Given the description of an element on the screen output the (x, y) to click on. 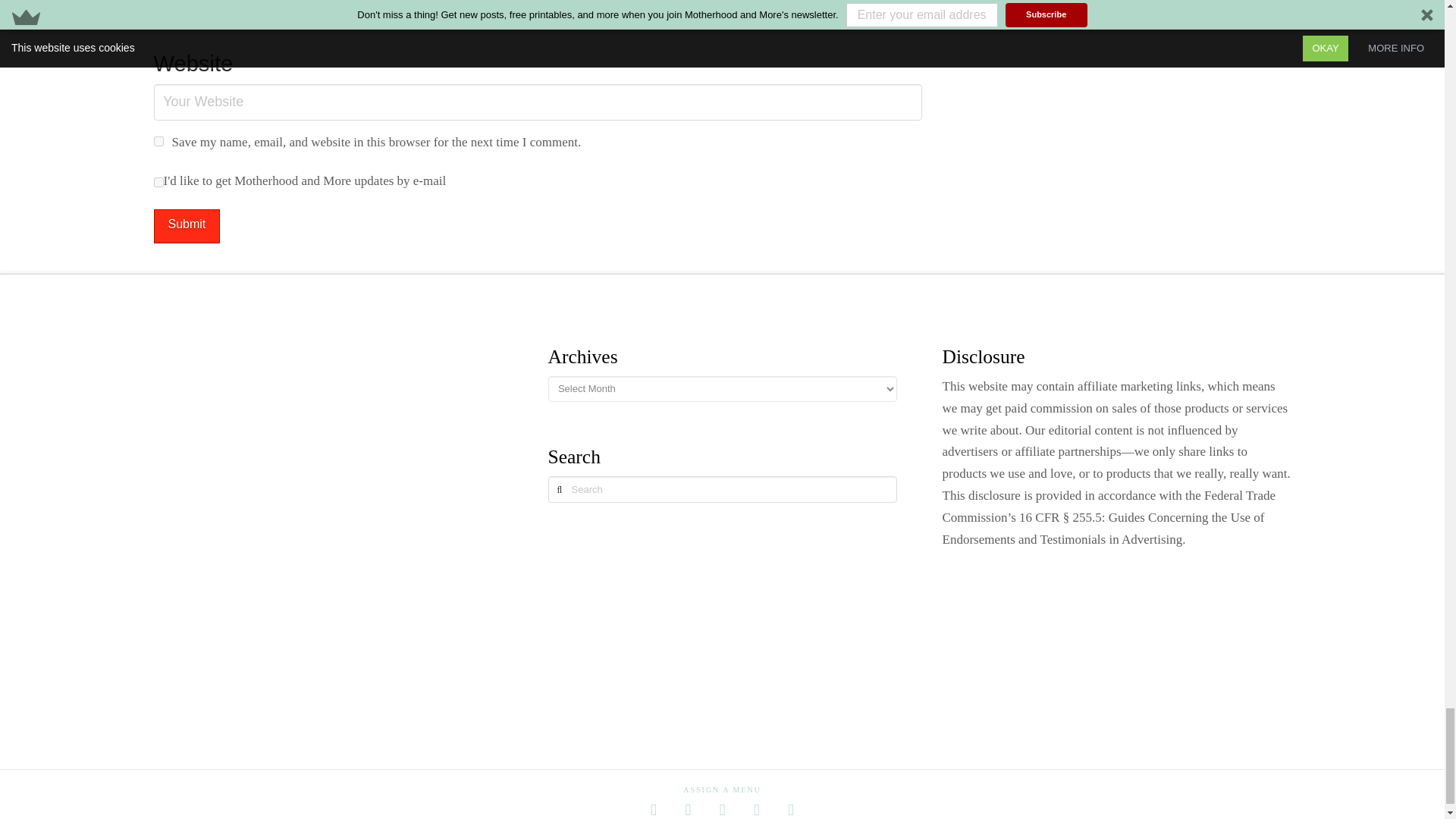
Submit (185, 226)
1 (157, 182)
yes (157, 141)
